Given the description of an element on the screen output the (x, y) to click on. 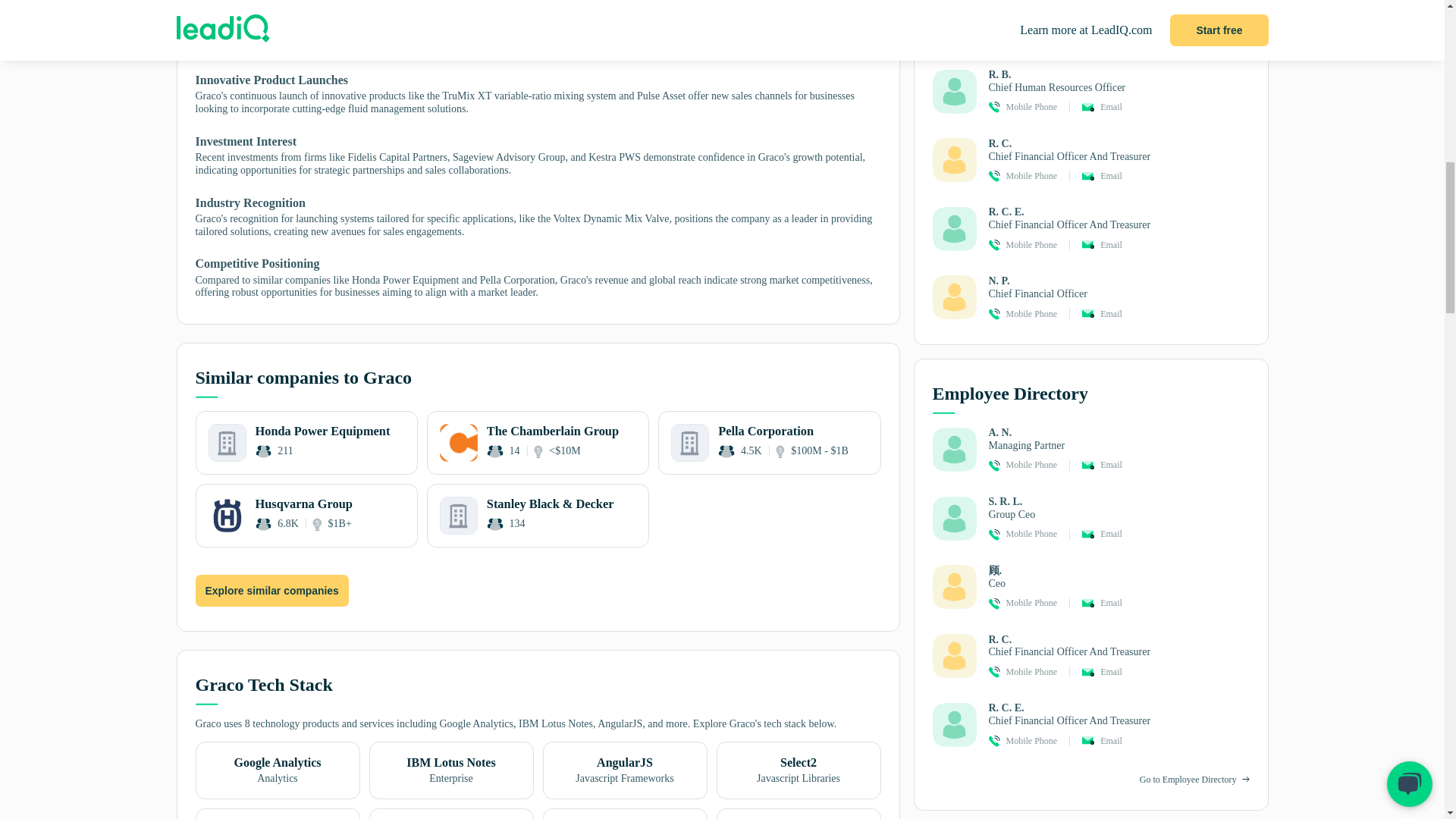
Explore similar companies (272, 591)
Explore similar companies (306, 442)
